Given the description of an element on the screen output the (x, y) to click on. 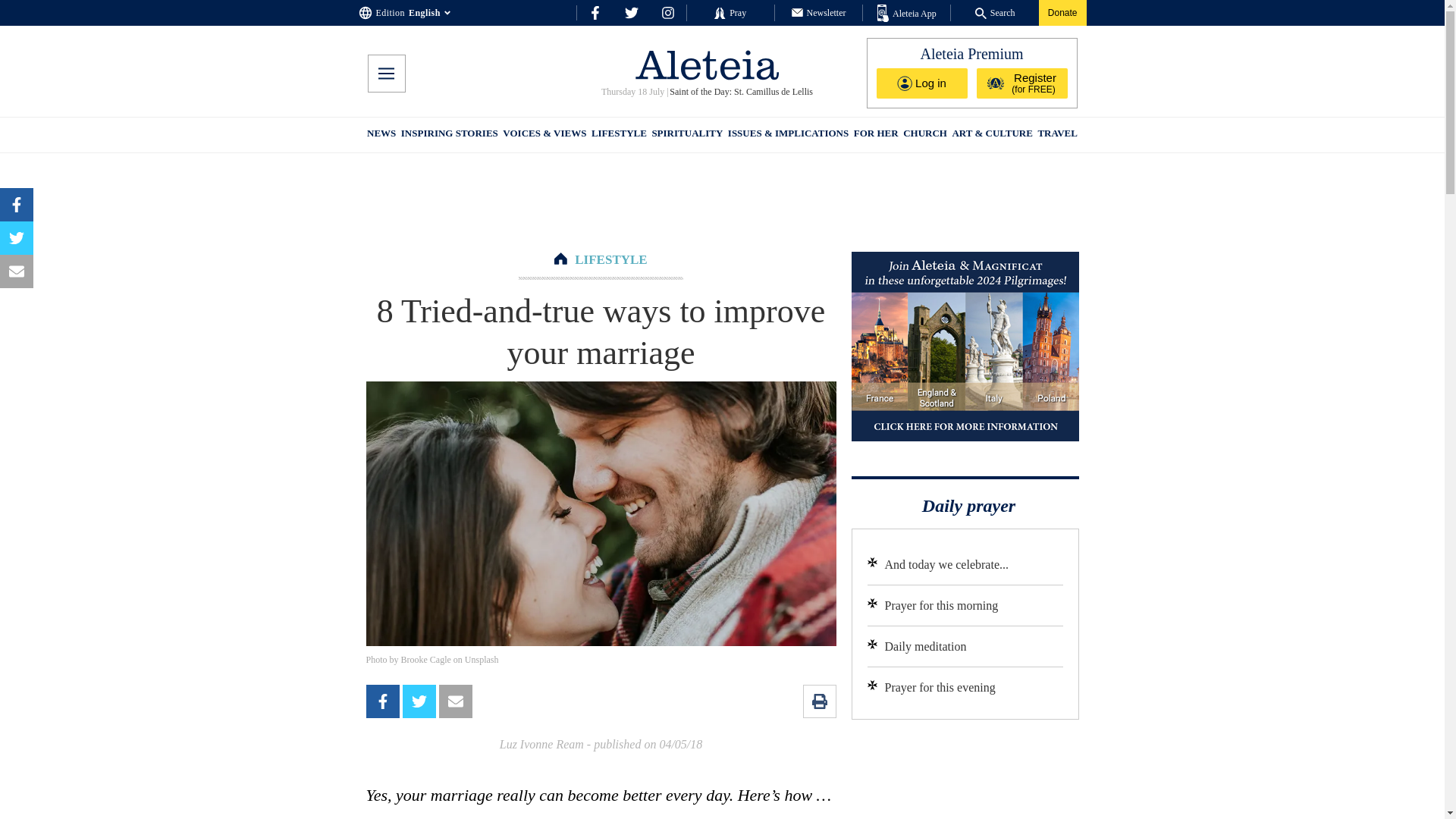
social-tw-top-row (631, 12)
Aleteia App (906, 13)
social-fb-top-row (595, 12)
Pray (729, 12)
Newsletter (818, 12)
Search (994, 12)
Luz Ivonne Ream (541, 744)
Saint of the Day: St. Camillus de Lellis (740, 91)
LIFESTYLE (618, 134)
LIFESTYLE (610, 259)
SPIRITUALITY (686, 134)
INSPIRING STORIES (449, 134)
Log in (922, 82)
FOR HER (875, 134)
TRAVEL (1056, 134)
